Given the description of an element on the screen output the (x, y) to click on. 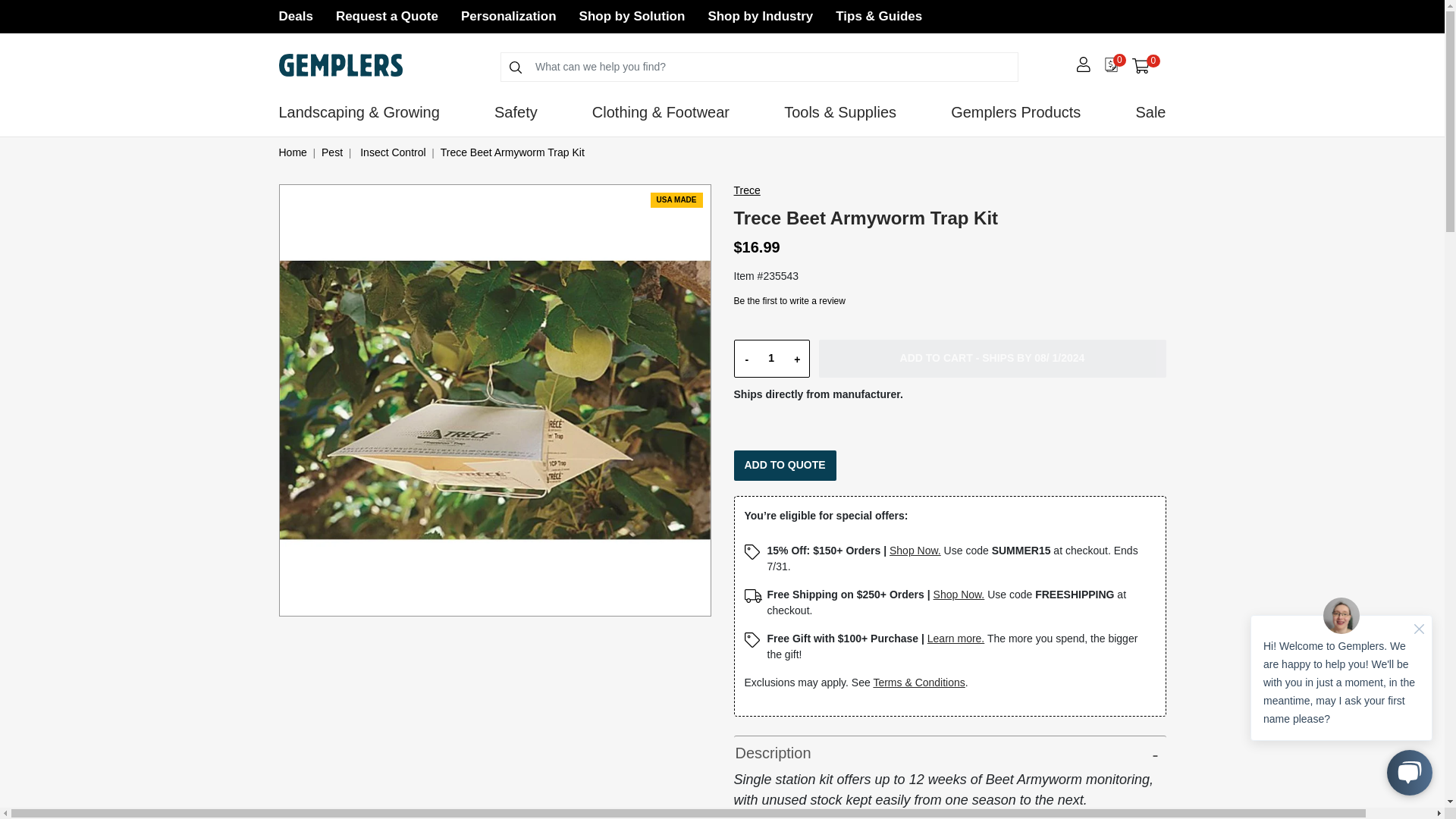
Request a Quote (387, 16)
Shopping Cart (1141, 66)
Shop by Industry (1145, 65)
1 (759, 16)
Deals (770, 357)
Personalization (296, 16)
Shop by Solution (508, 16)
